Given the description of an element on the screen output the (x, y) to click on. 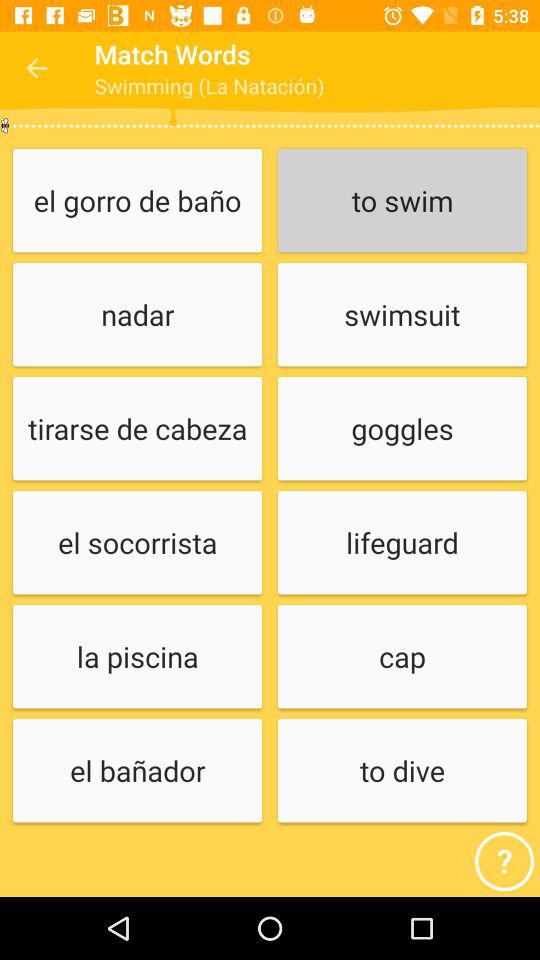
jump until tirarse de cabeza icon (137, 429)
